Given the description of an element on the screen output the (x, y) to click on. 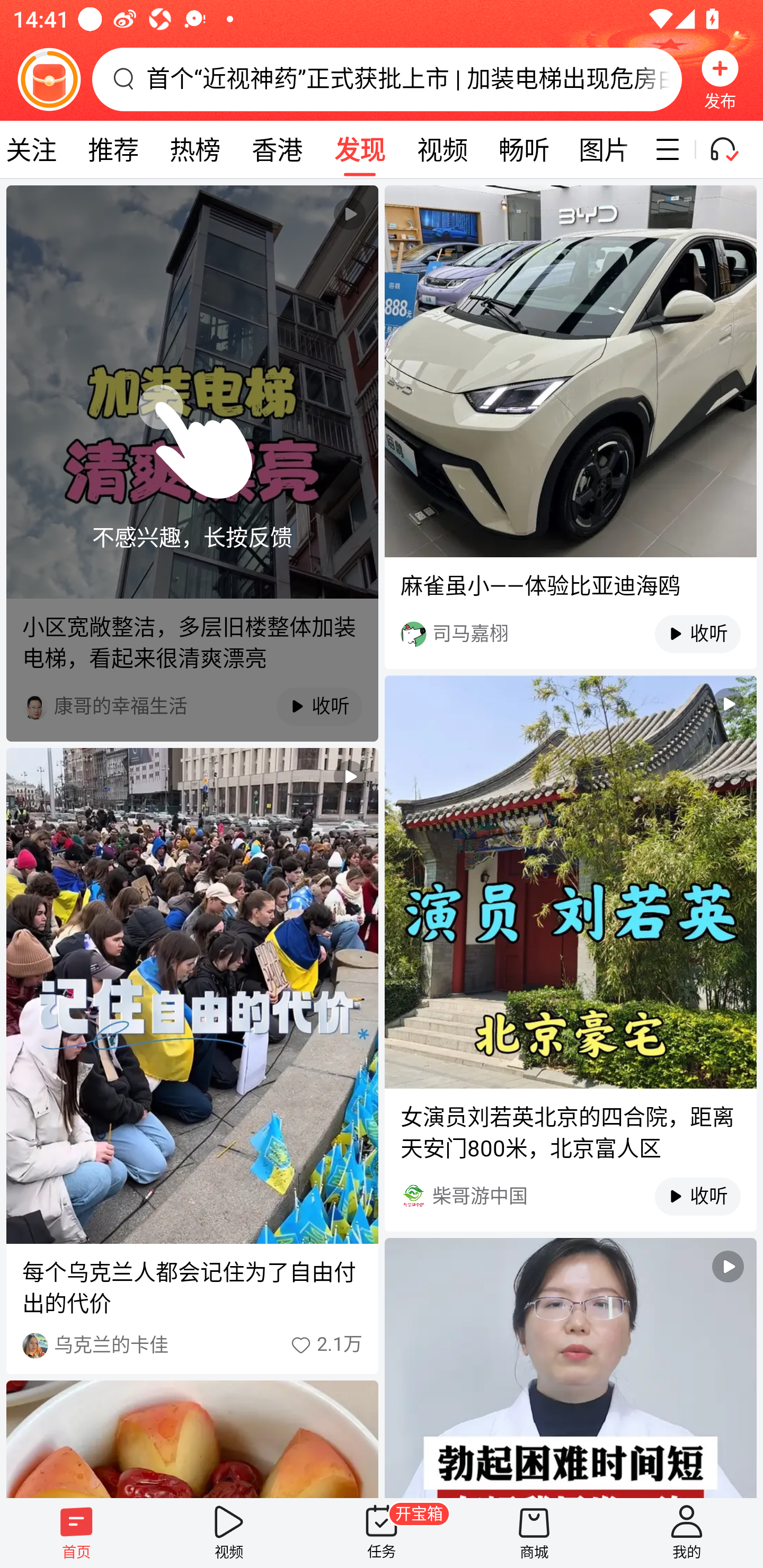
阅读赚金币 (48, 79)
发布 发布，按钮 (720, 78)
关注 (36, 149)
推荐 (113, 149)
热榜 (194, 149)
香港 (276, 149)
发现 (359, 149)
视频 (442, 149)
畅听 (523, 149)
图片 (603, 149)
听一听开关 (732, 149)
麻雀虽小——体验比亚迪海鸥  作者,司马嘉栩,按钮 司马嘉栩 收听 (570, 427)
作者,司马嘉栩,按钮 司马嘉栩 收听 (570, 633)
收听 (687, 633)
作者,康哥的幸福生活,按钮 康哥的幸福生活 收听 (192, 706)
收听 (309, 706)
作者,柴哥游中国,按钮 柴哥游中国 收听 (570, 1195)
收听 (687, 1196)
视频 (570, 1367)
作者,乌克兰的卡佳,按钮 乌克兰的卡佳 赞2.1万 赞 (192, 1345)
首页 (76, 1532)
视频 (228, 1532)
任务 开宝箱 (381, 1532)
商城 (533, 1532)
我的 (686, 1532)
